Given the description of an element on the screen output the (x, y) to click on. 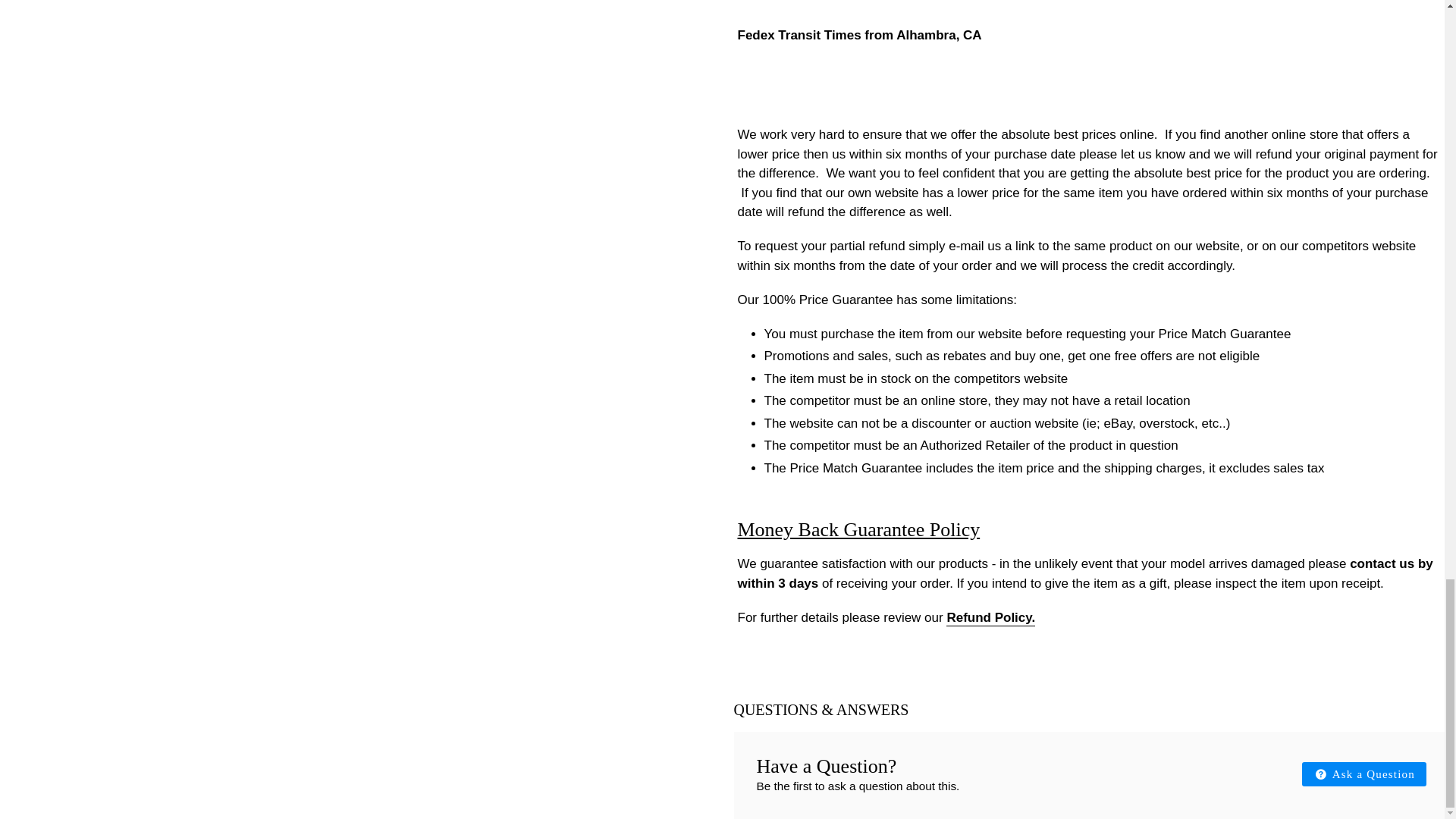
Ask a Question (1363, 774)
Refund Policy. (990, 618)
